Given the description of an element on the screen output the (x, y) to click on. 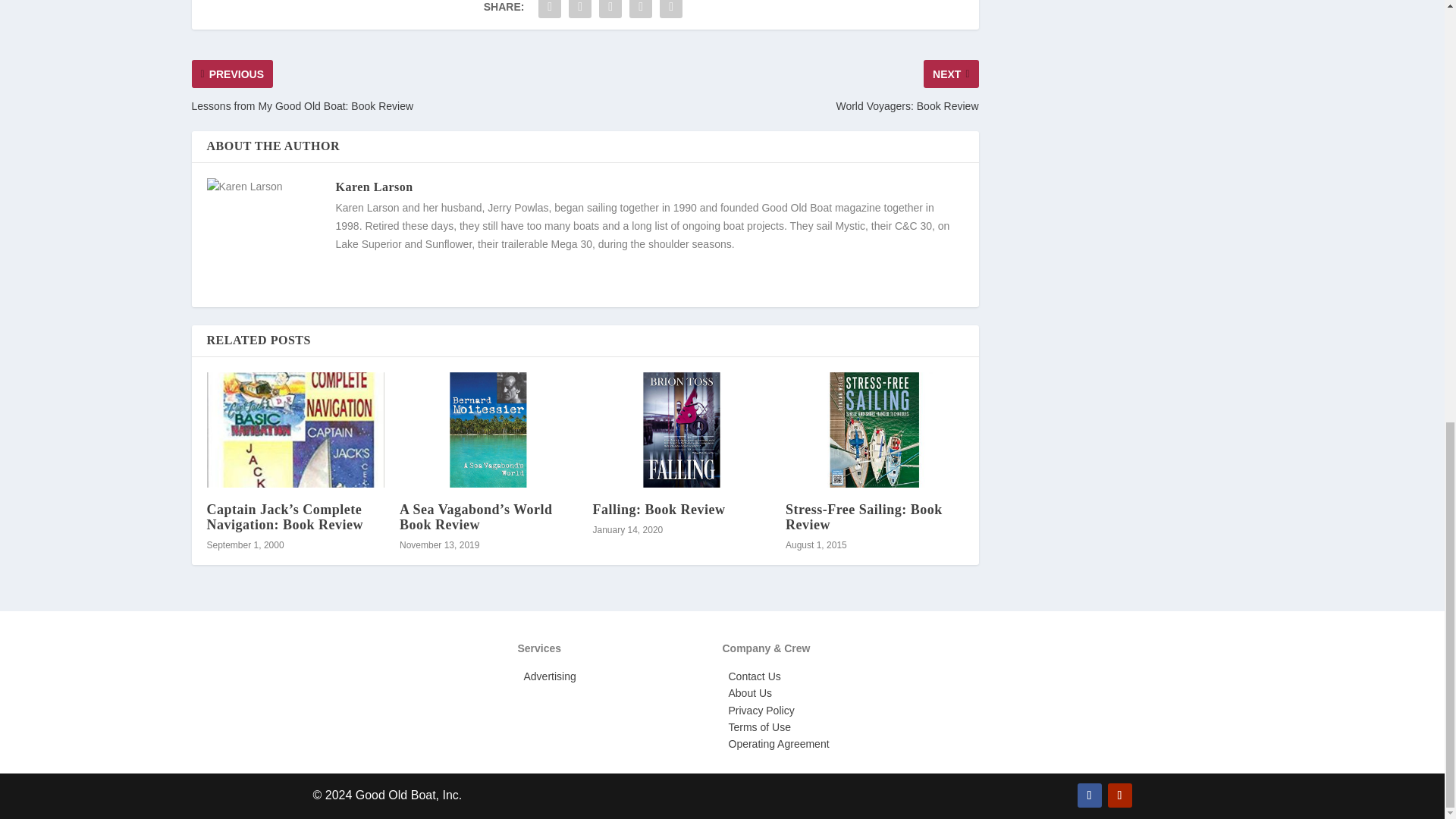
Falling: Book Review (681, 429)
Stress-Free Sailing: Book Review (874, 429)
Follow on Facebook (1088, 794)
View all posts by Karen Larson (373, 186)
